Given the description of an element on the screen output the (x, y) to click on. 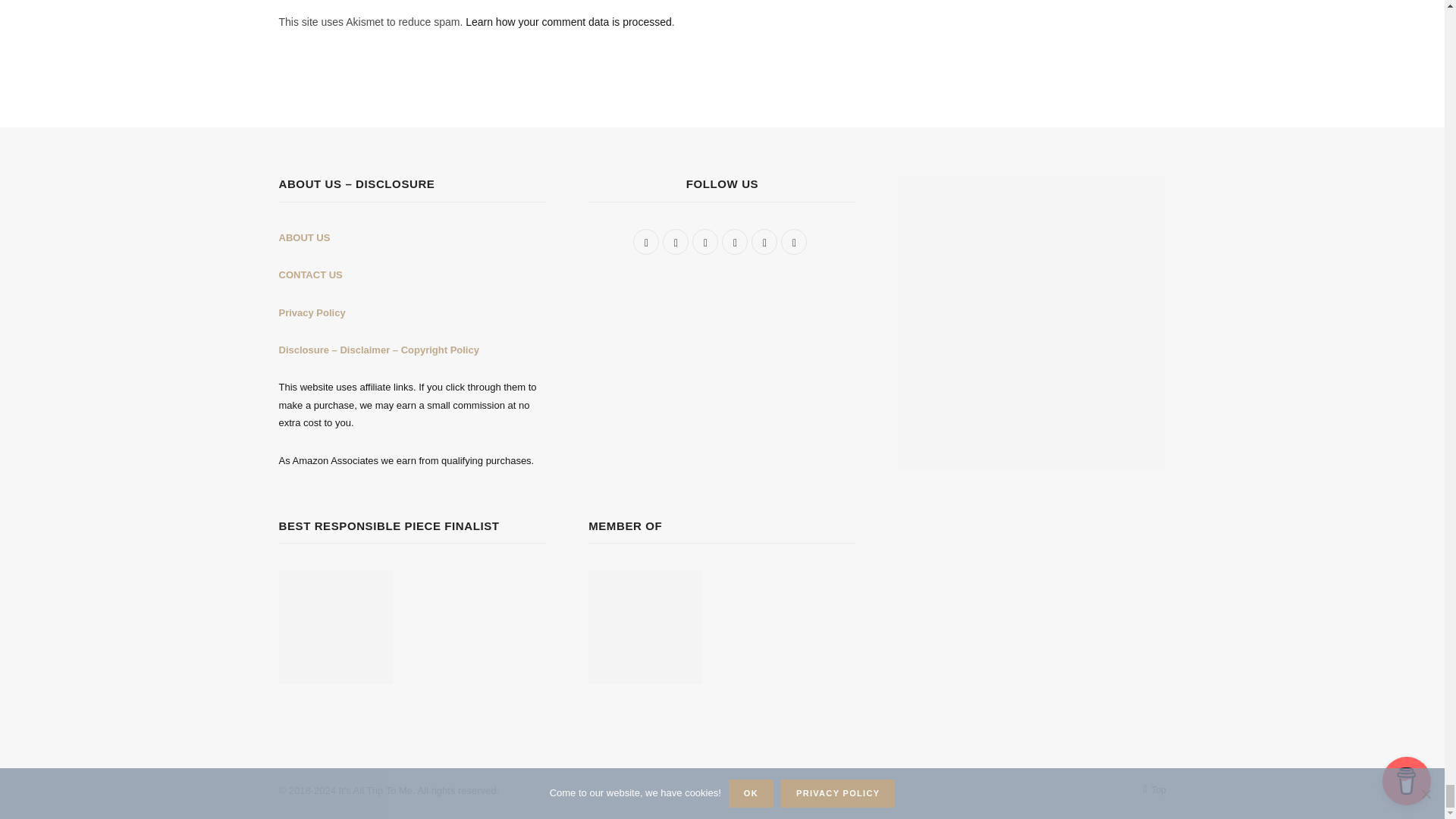
MEMBER OF (644, 626)
